Given the description of an element on the screen output the (x, y) to click on. 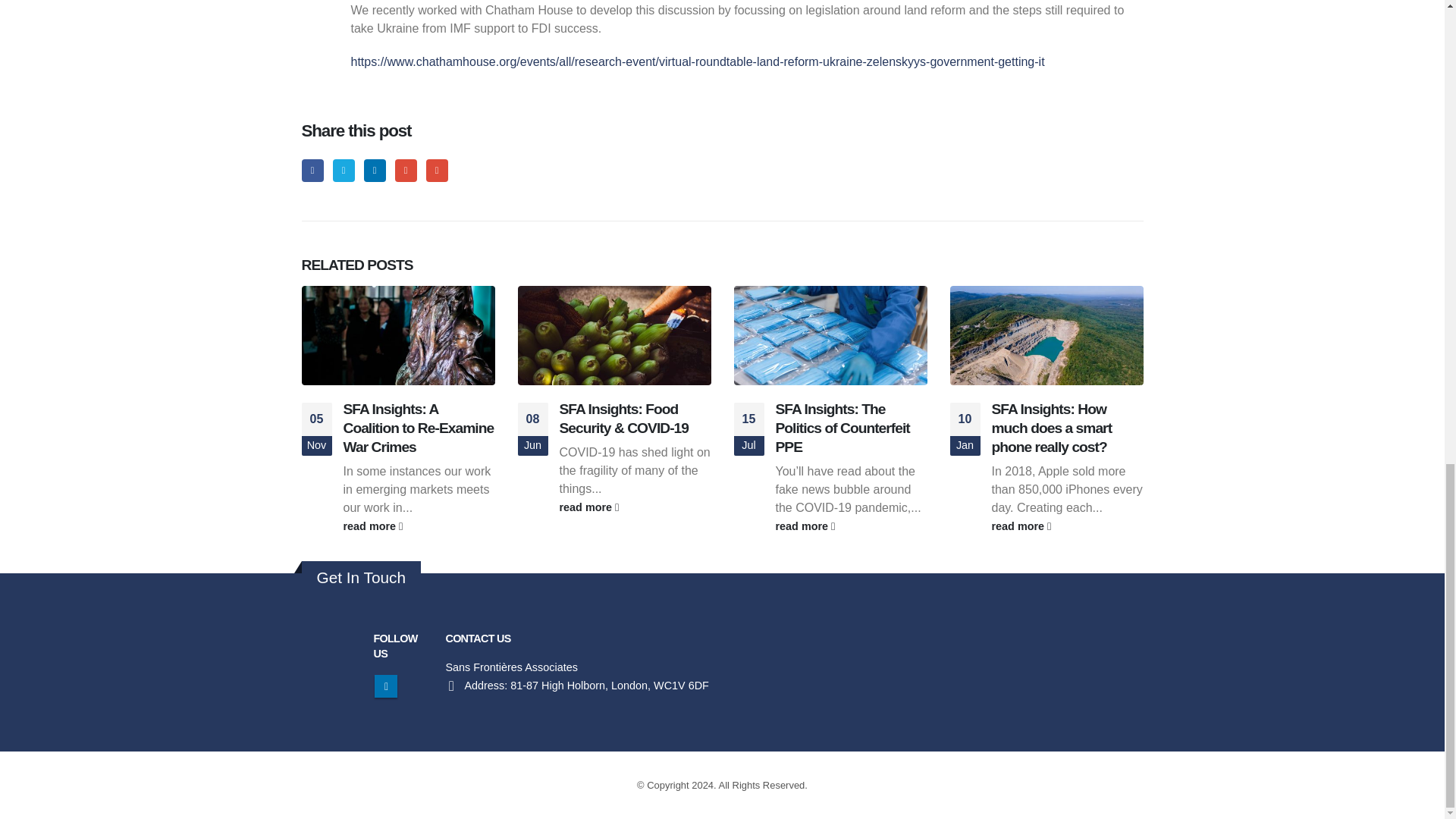
Facebook (312, 169)
read more (635, 506)
Email (437, 169)
SFA Insights: A Coalition to Re-Examine War Crimes (417, 428)
LinkedIn (374, 169)
Email (437, 169)
read more (1066, 525)
SFA Insights: How much does a smart phone really cost? (1051, 428)
Linkedin (385, 685)
read more (850, 525)
Twitter (344, 169)
read more (418, 525)
Facebook (312, 169)
Linkedin (385, 685)
SFA Insights: The Politics of Counterfeit PPE (841, 428)
